Given the description of an element on the screen output the (x, y) to click on. 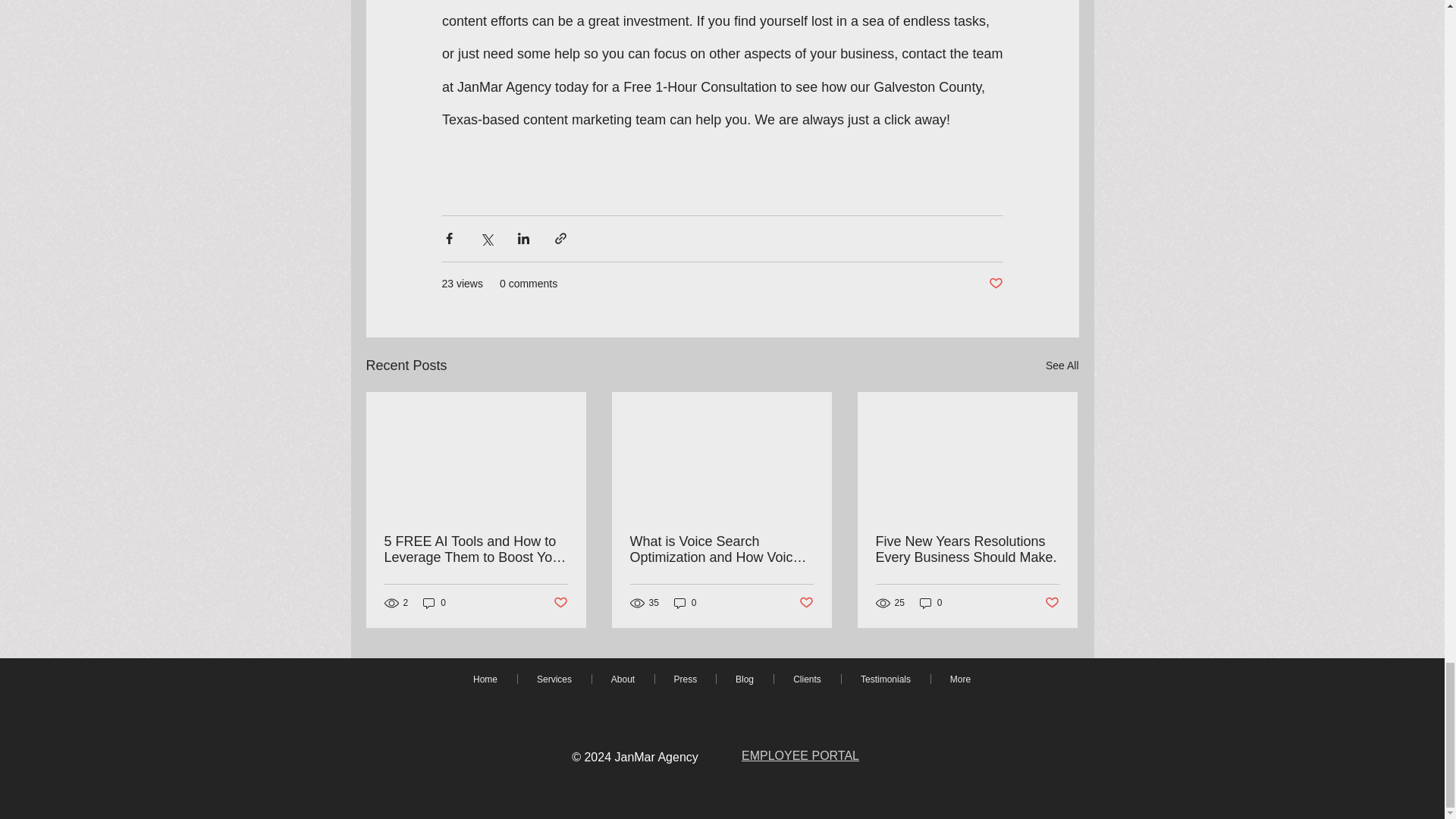
0 (434, 603)
Post not marked as liked (995, 283)
See All (1061, 365)
